Given the description of an element on the screen output the (x, y) to click on. 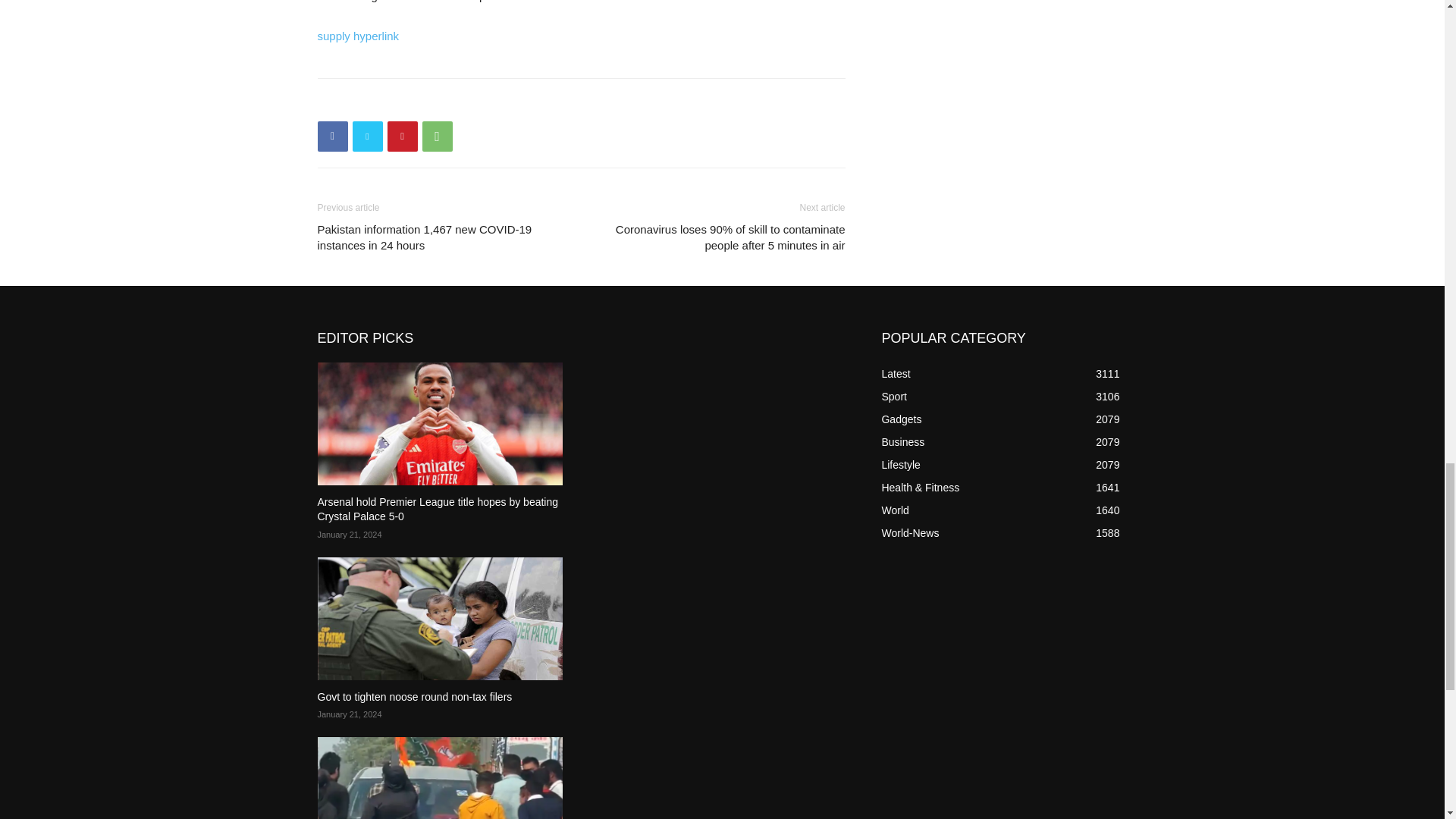
Twitter (366, 136)
Pinterest (401, 136)
supply hyperlink (357, 35)
WhatsApp (436, 136)
Facebook (332, 136)
